Given the description of an element on the screen output the (x, y) to click on. 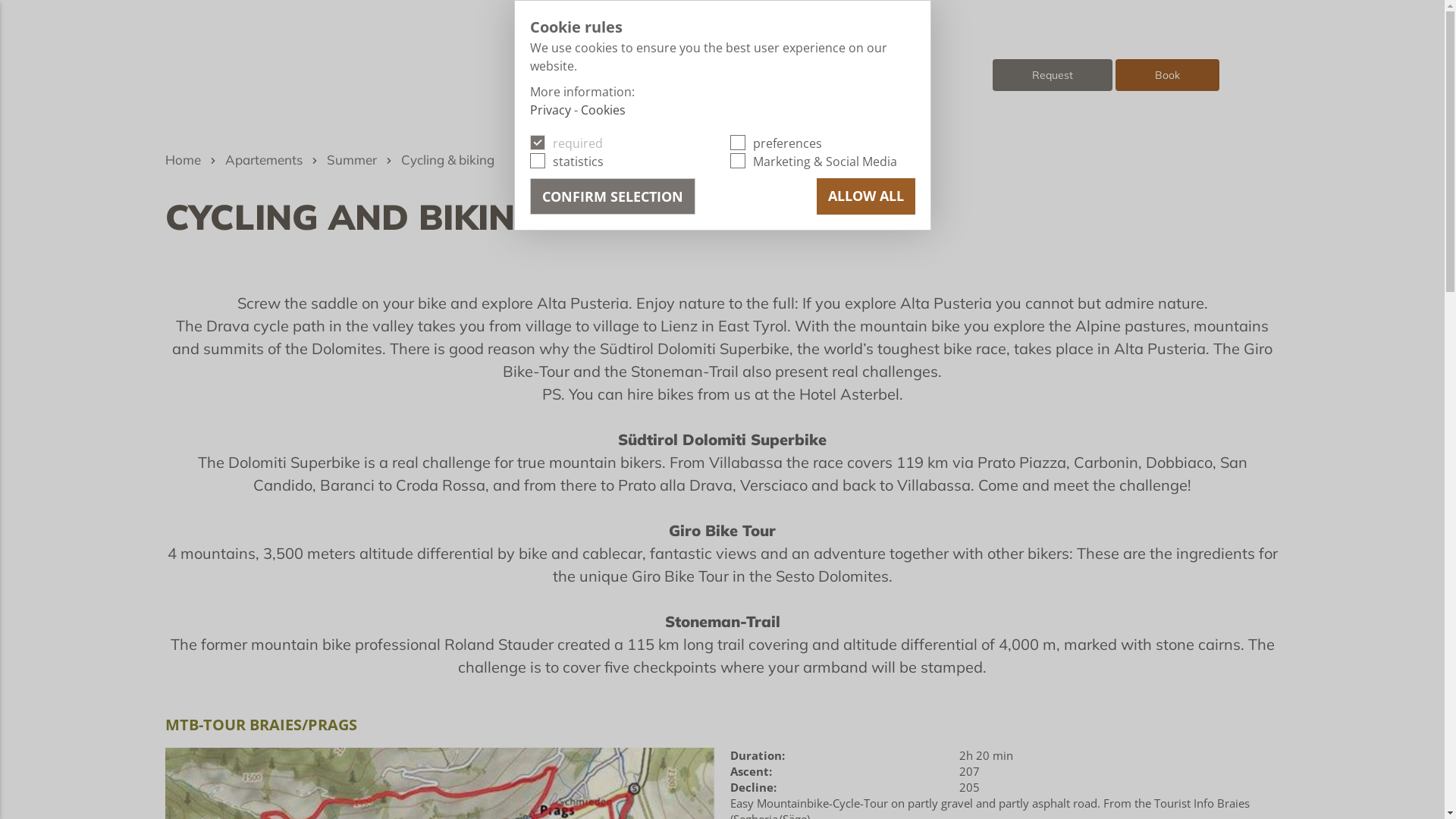
Summer Element type: text (351, 159)
Cookies Element type: text (602, 109)
Appartements Element type: text (294, 78)
Home Element type: text (182, 159)
HOHE GAISL Element type: text (757, 73)
APPARTEMENTS Element type: text (757, 41)
Request Element type: text (1052, 75)
CONFIRM SELECTION Element type: text (611, 196)
Book Element type: text (1167, 75)
Privacy Element type: text (549, 109)
Apartements Element type: text (262, 159)
+390474646360 Element type: hover (604, 68)
IT Element type: text (933, 57)
DE Element type: text (933, 41)
MTB-TOUR BRAIES/PRAGS Element type: text (261, 724)
Cycling & biking Element type: text (446, 159)
EN Element type: text (933, 73)
ALLOW ALL Element type: text (864, 196)
HOTEL ASTERBEL Element type: text (757, 57)
